Given the description of an element on the screen output the (x, y) to click on. 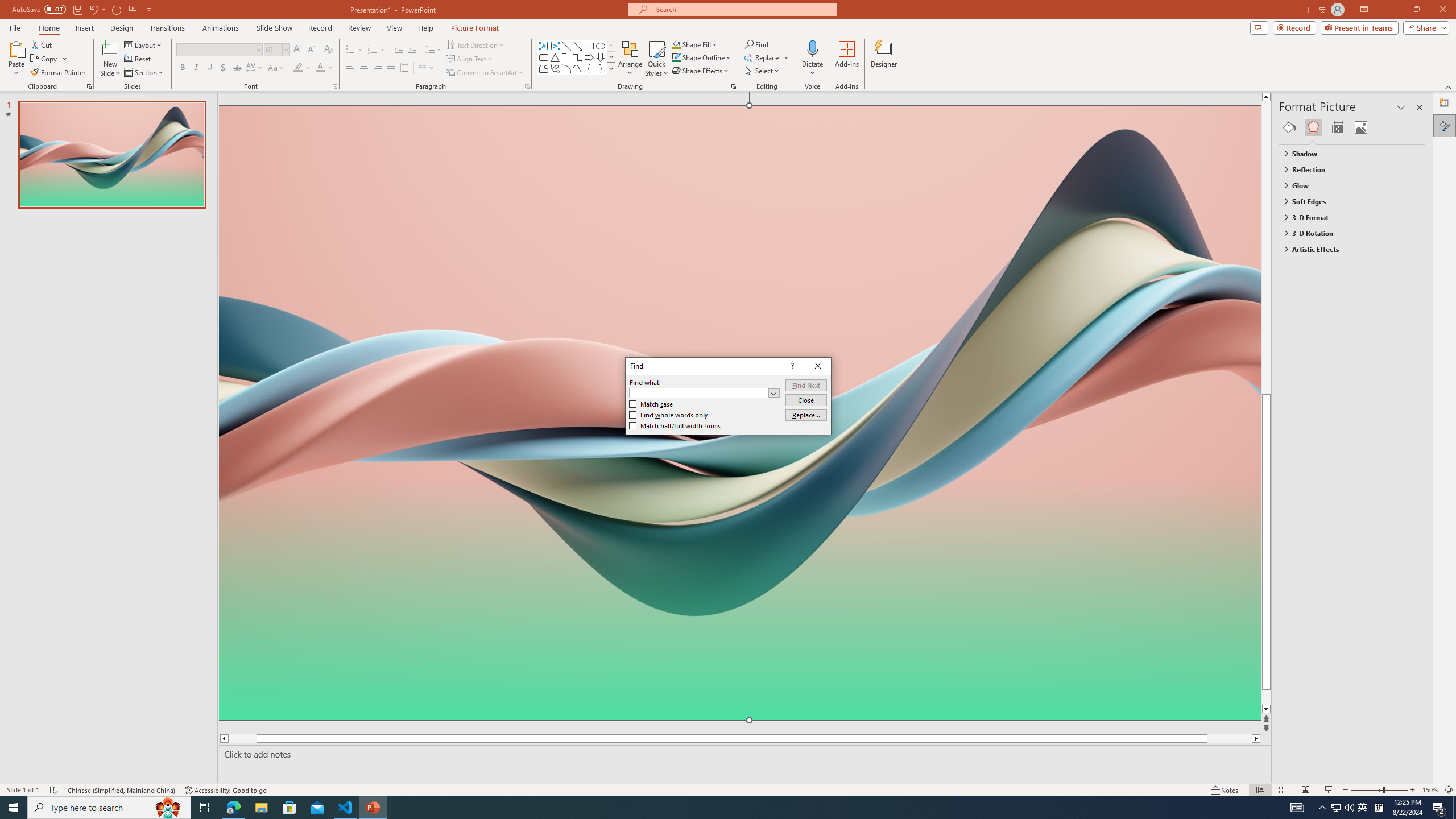
Format Painter (58, 72)
Help (425, 28)
Slide Sorter (1282, 790)
Search highlights icon opens search home window (167, 807)
Select (762, 69)
Rectangle: Rounded Corners (543, 57)
Microsoft search (742, 9)
Copy (49, 58)
Font Color (324, 67)
Bullets (349, 49)
Find Next (1335, 807)
